Given the description of an element on the screen output the (x, y) to click on. 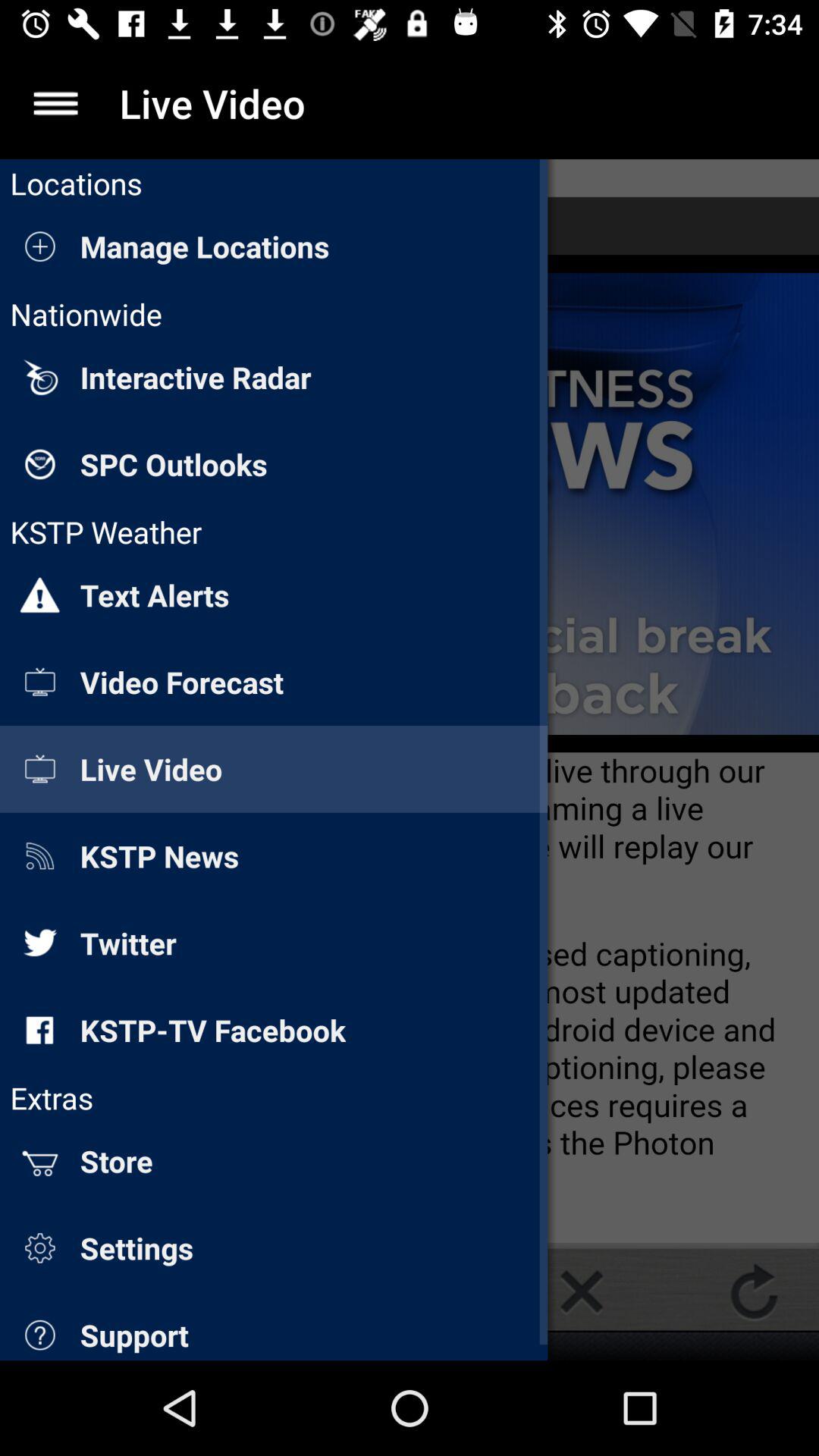
launch the item next to the live video item (55, 103)
